Given the description of an element on the screen output the (x, y) to click on. 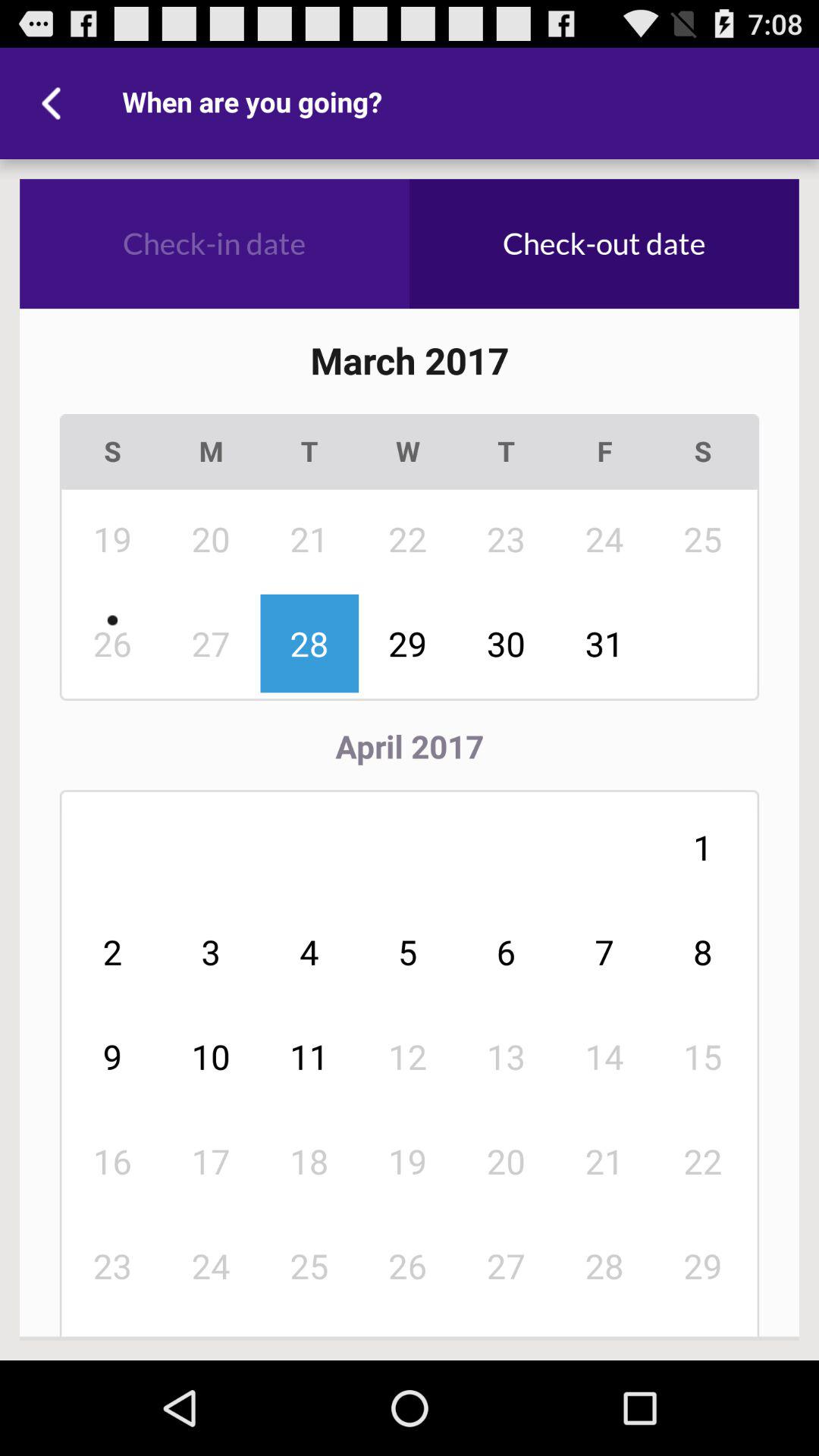
turn off item above 19 item (506, 1056)
